Given the description of an element on the screen output the (x, y) to click on. 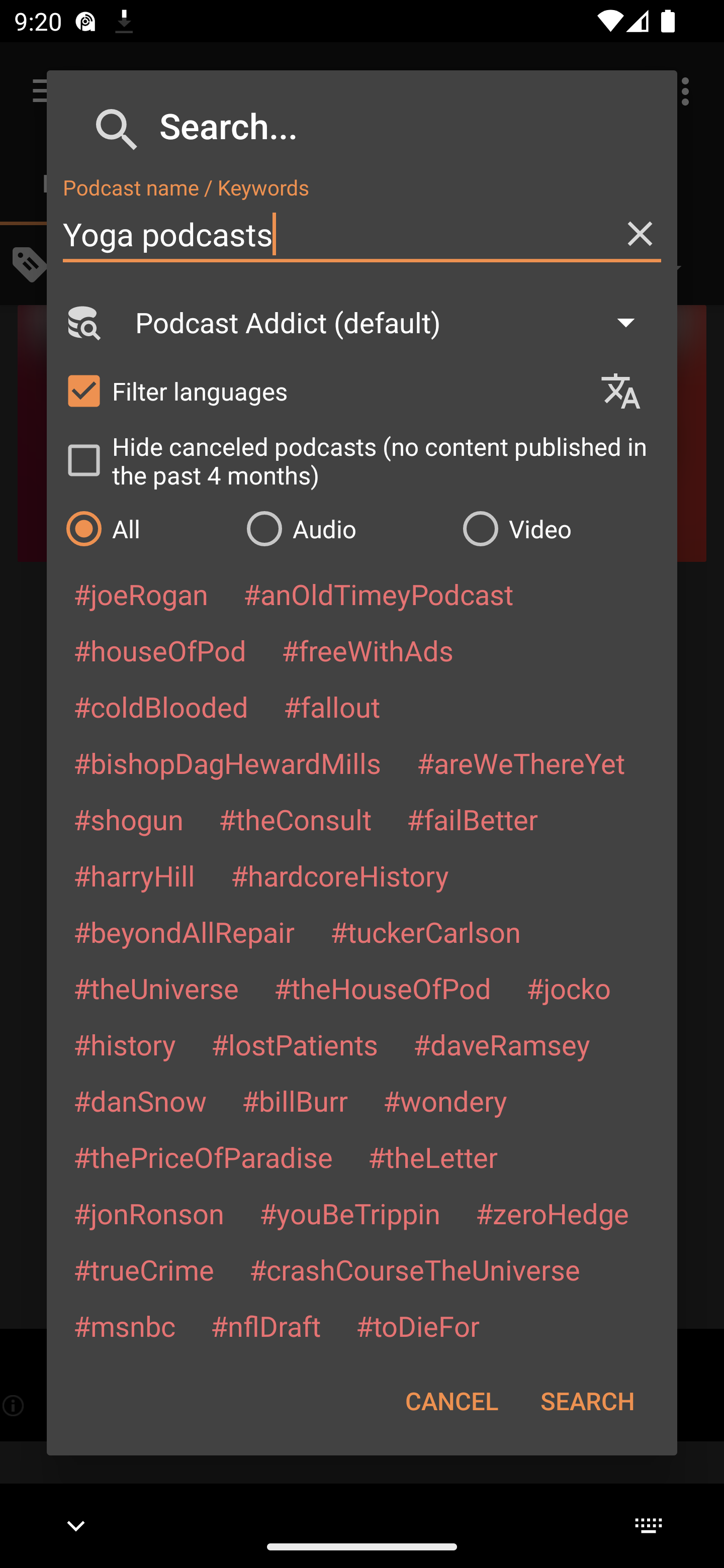
Yoga podcasts (361, 234)
Search Engine (82, 322)
Podcast Addict (default) (394, 322)
Languages selection (629, 390)
Filter languages (322, 390)
All (145, 528)
Audio (344, 528)
Video (560, 528)
#joeRogan (140, 594)
#anOldTimeyPodcast (378, 594)
#houseOfPod (159, 650)
#freeWithAds (367, 650)
#coldBlooded (160, 705)
#fallout (331, 705)
#bishopDagHewardMills (227, 762)
#areWeThereYet (521, 762)
#shogun (128, 818)
#theConsult (294, 818)
#failBetter (471, 818)
#harryHill (134, 875)
#hardcoreHistory (339, 875)
#beyondAllRepair (184, 931)
#tuckerCarlson (425, 931)
#theUniverse (155, 987)
#theHouseOfPod (381, 987)
#jocko (568, 987)
#history (124, 1044)
#lostPatients (294, 1044)
#daveRamsey (501, 1044)
#danSnow (139, 1100)
#billBurr (294, 1100)
#wondery (444, 1100)
#thePriceOfParadise (203, 1157)
#theLetter (432, 1157)
#jonRonson (148, 1213)
#youBeTrippin (349, 1213)
#zeroHedge (552, 1213)
#trueCrime (143, 1268)
#crashCourseTheUniverse (414, 1268)
#msnbc (124, 1325)
#nflDraft (265, 1325)
#toDieFor (417, 1325)
CANCEL (451, 1400)
SEARCH (587, 1400)
